Given the description of an element on the screen output the (x, y) to click on. 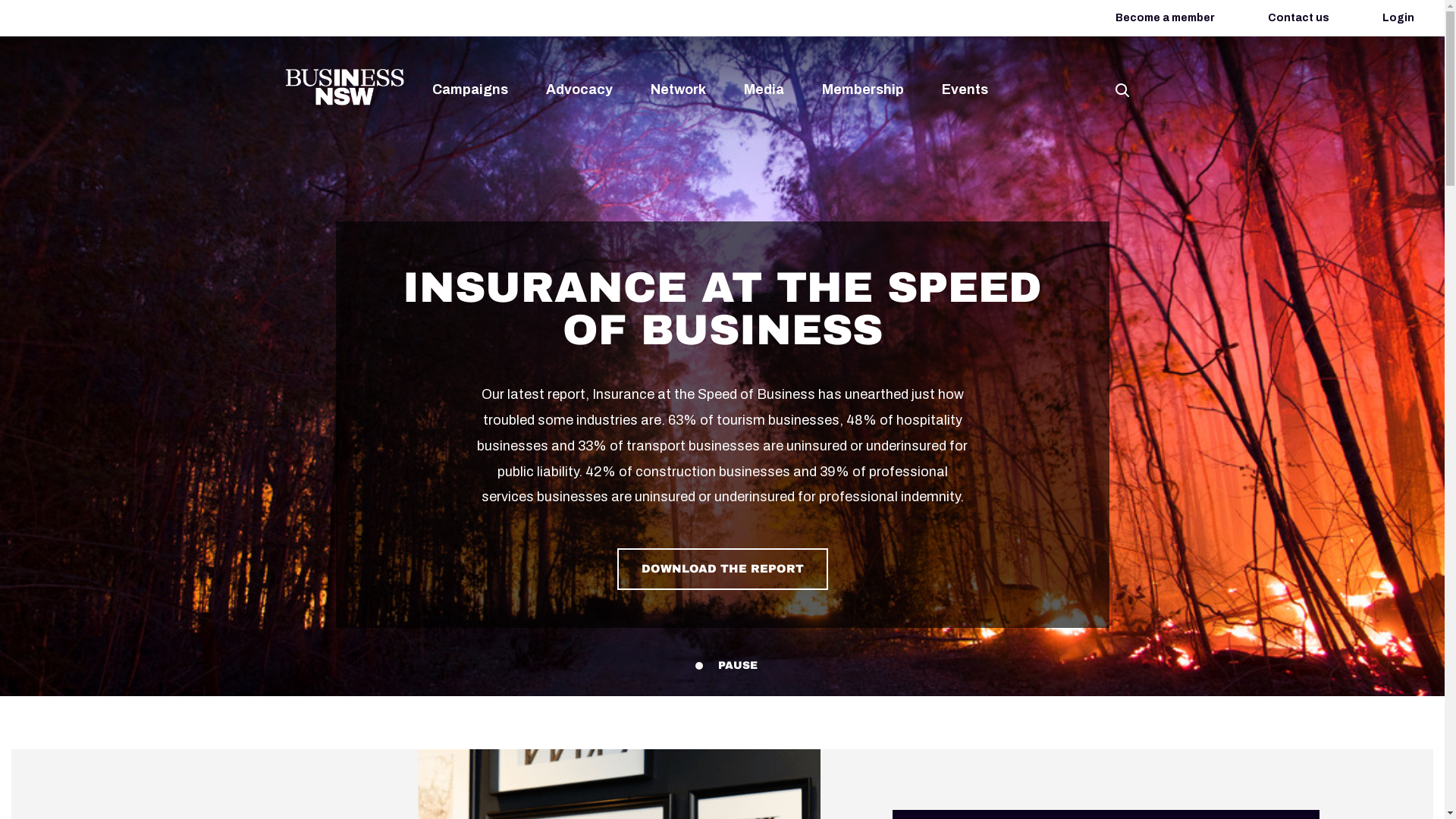
Contact us Element type: text (1298, 17)
Become a member Element type: text (1164, 17)
Login Element type: text (1398, 17)
DOWNLOAD THE REPORT Element type: text (722, 568)
PAUSE Element type: text (736, 665)
